Given the description of an element on the screen output the (x, y) to click on. 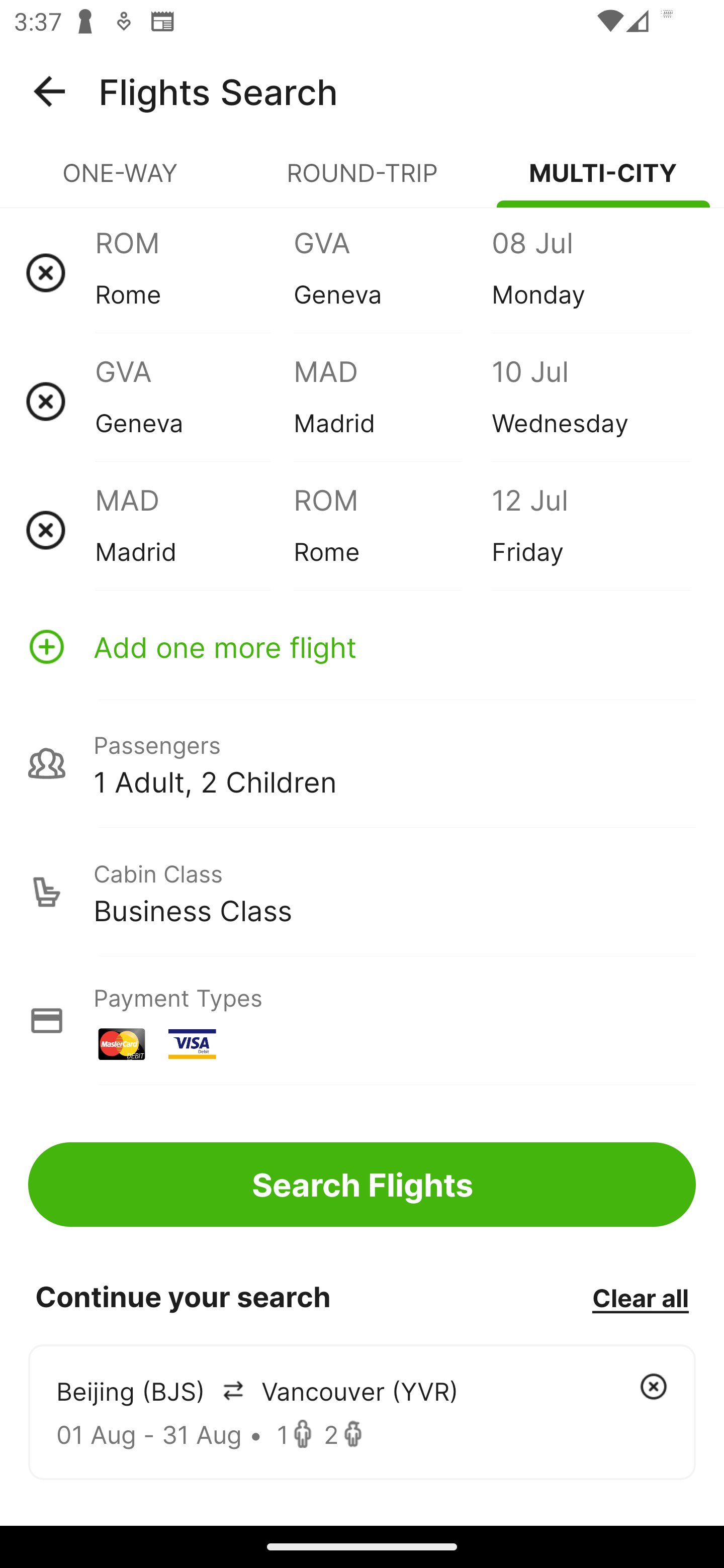
ONE-WAY (120, 180)
ROUND-TRIP (361, 180)
MULTI-CITY (603, 180)
ROM Rome (193, 272)
GVA Geneva (392, 272)
08 Jul Monday (590, 272)
GVA Geneva (193, 401)
MAD Madrid (392, 401)
10 Jul Wednesday (590, 401)
MAD Madrid (193, 529)
ROM Rome (392, 529)
12 Jul Friday (590, 529)
Add one more flight (362, 646)
Passengers 1 Adult, 2 Children (362, 762)
Cabin Class Business Class (362, 891)
Payment Types (362, 1020)
Search Flights (361, 1184)
Clear all (640, 1297)
